Given the description of an element on the screen output the (x, y) to click on. 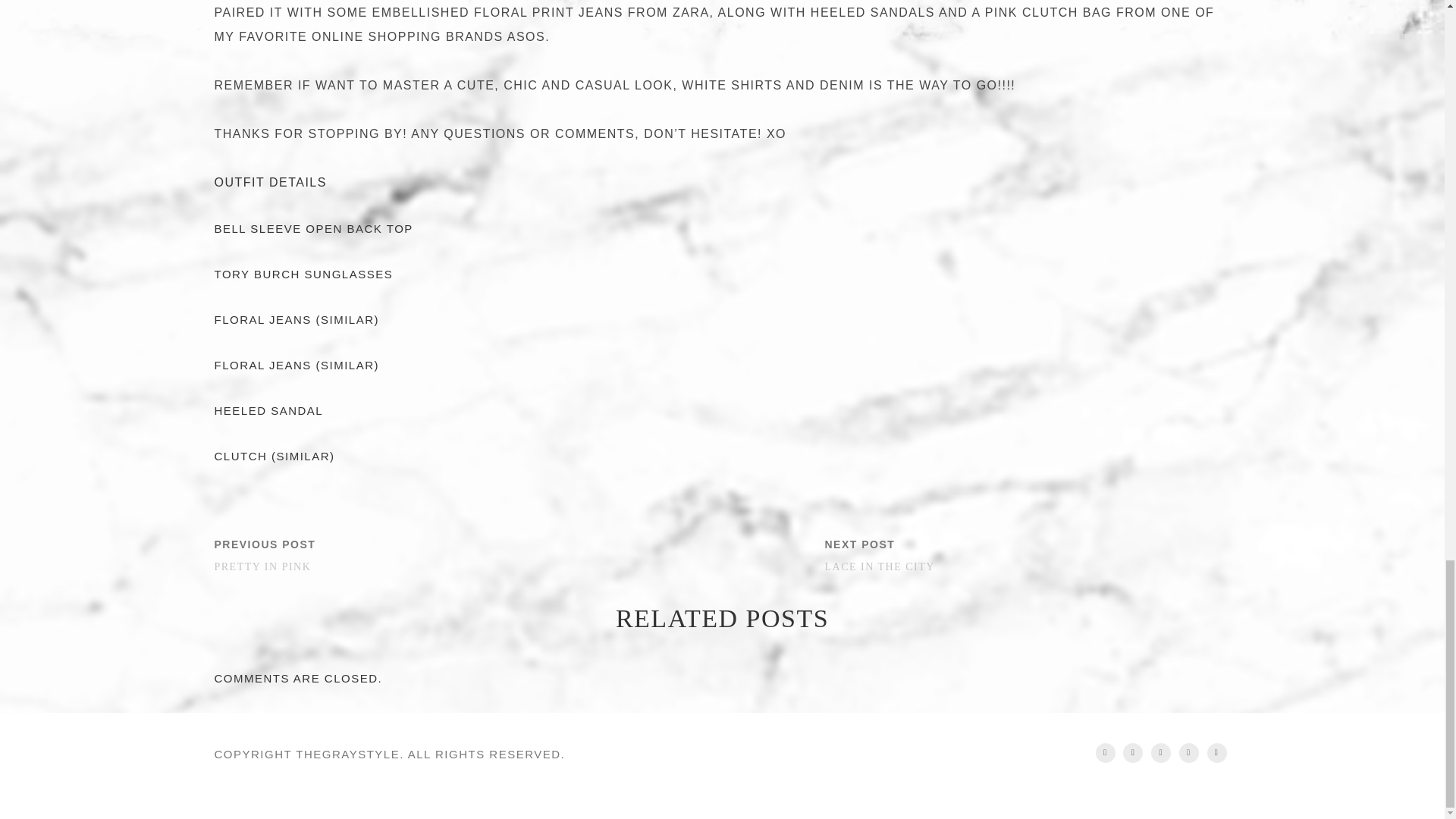
TORY BURCH SUNGLASSES (1027, 555)
BELL SLEEVE OPEN BACK TOP (303, 273)
HEELED SANDAL (313, 228)
